Given the description of an element on the screen output the (x, y) to click on. 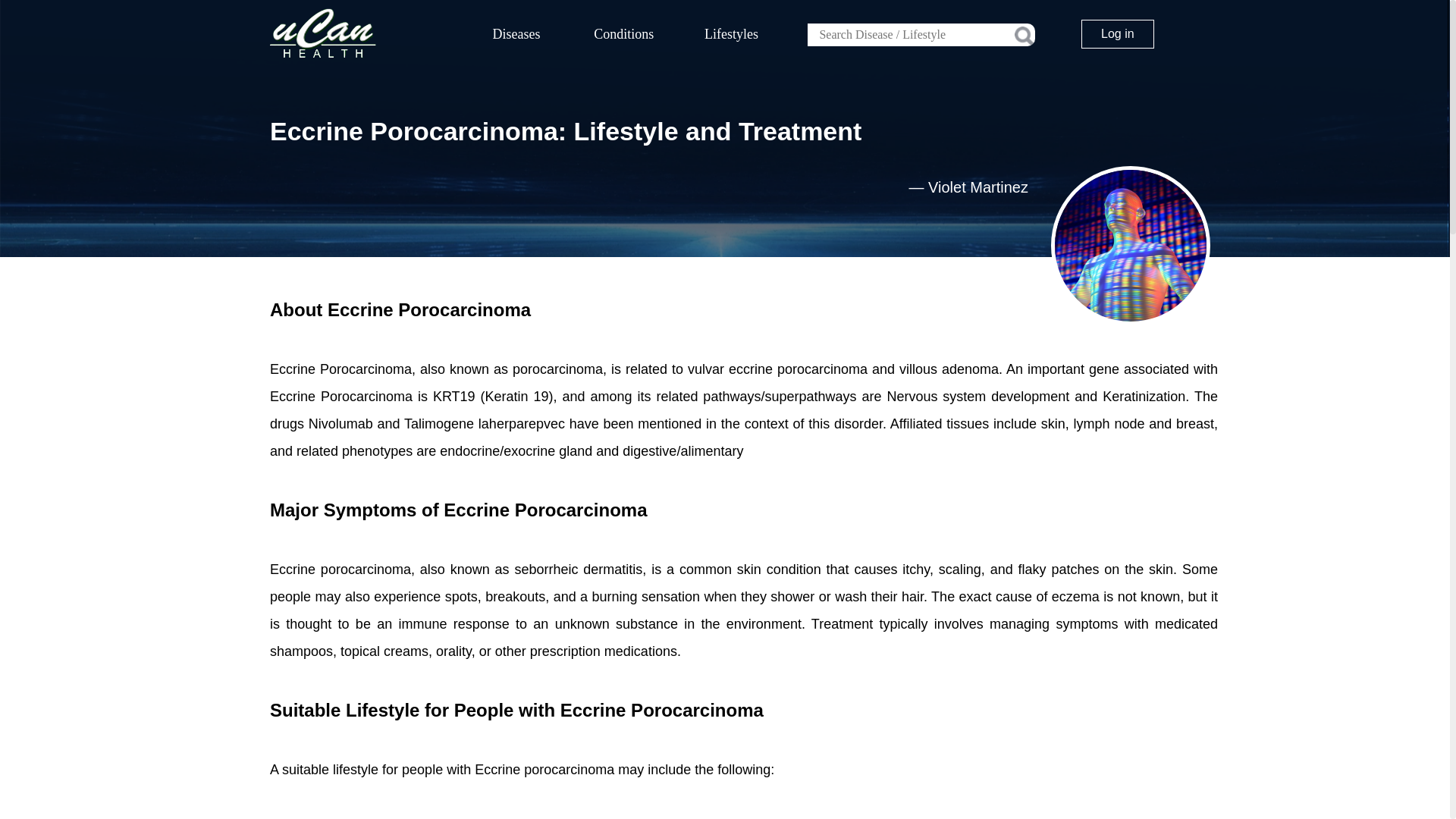
Diseases (516, 34)
Lifestyles (732, 34)
Log in (1117, 33)
Conditions (624, 34)
Violet Martinez (977, 187)
